Given the description of an element on the screen output the (x, y) to click on. 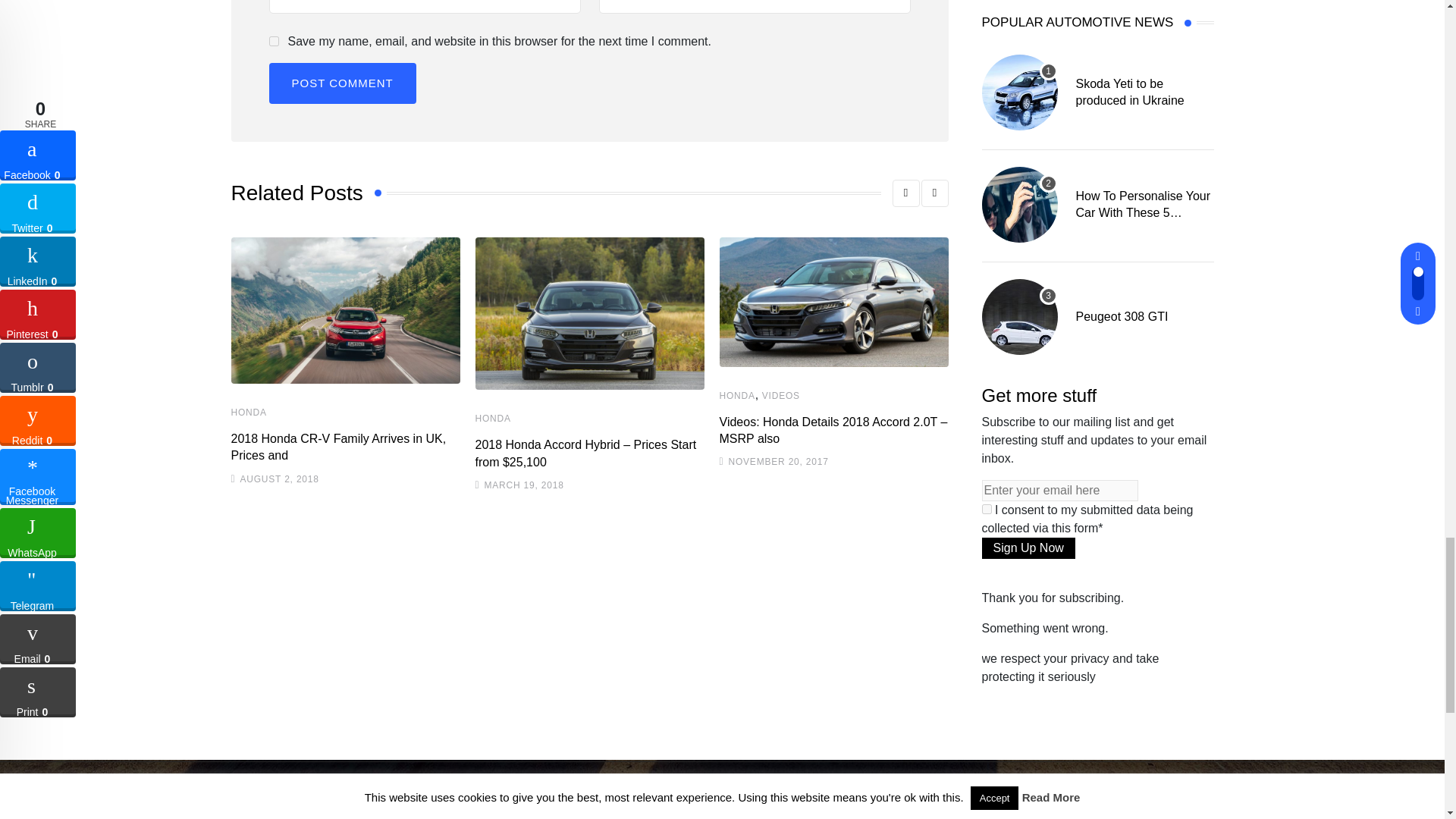
Post Comment (340, 83)
on (986, 509)
Sign Up Now (1027, 547)
yes (272, 40)
